Given the description of an element on the screen output the (x, y) to click on. 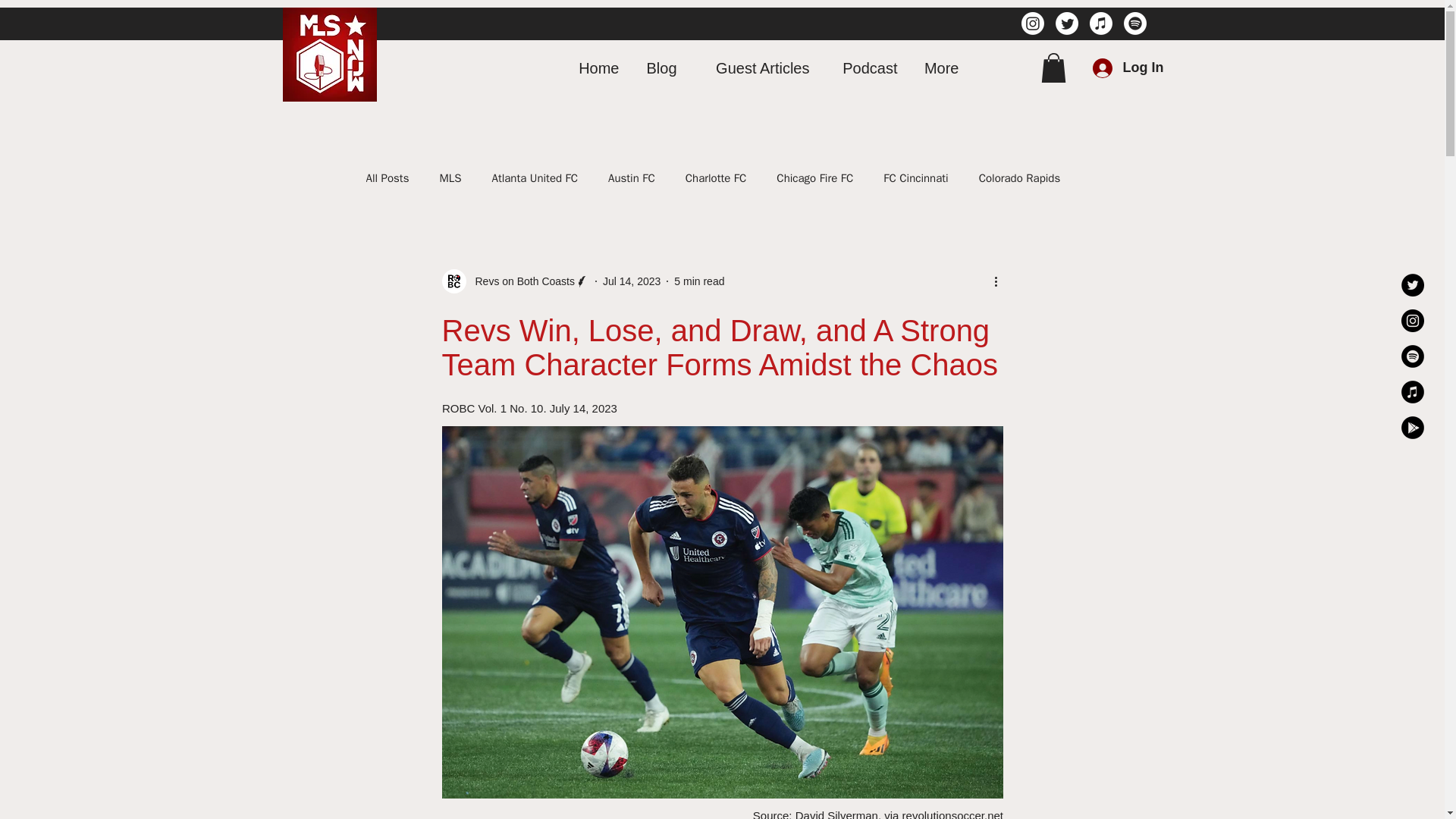
Austin FC (631, 178)
Colorado Rapids (1019, 178)
Chicago Fire FC (814, 178)
Jul 14, 2023 (631, 281)
MLS (450, 178)
Atlanta United FC (535, 178)
Blog (659, 67)
All Posts (387, 178)
Revs on Both Coasts (520, 281)
5 min read (698, 281)
Home (595, 67)
Podcast (864, 67)
Charlotte FC (715, 178)
Log In (1113, 68)
FC Cincinnati (915, 178)
